Given the description of an element on the screen output the (x, y) to click on. 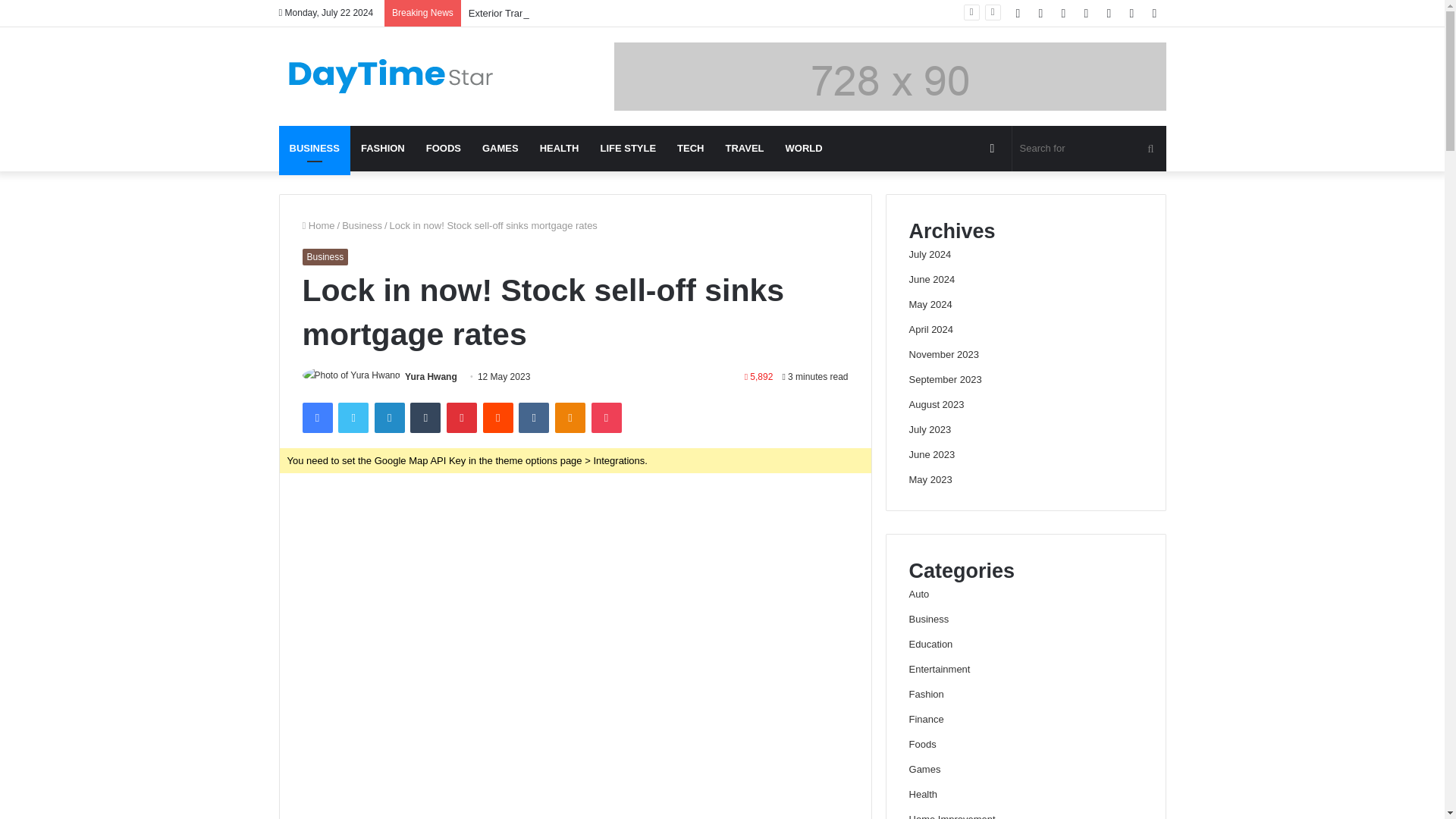
GAMES (500, 148)
Home (317, 225)
TRAVEL (744, 148)
FOODS (442, 148)
LinkedIn (389, 417)
DayTime Star (392, 76)
Yura Hwang (430, 376)
Business (361, 225)
Reddit (498, 417)
Reddit (498, 417)
Pocket (606, 417)
FASHION (382, 148)
Facebook (316, 417)
LIFE STYLE (627, 148)
LinkedIn (389, 417)
